Given the description of an element on the screen output the (x, y) to click on. 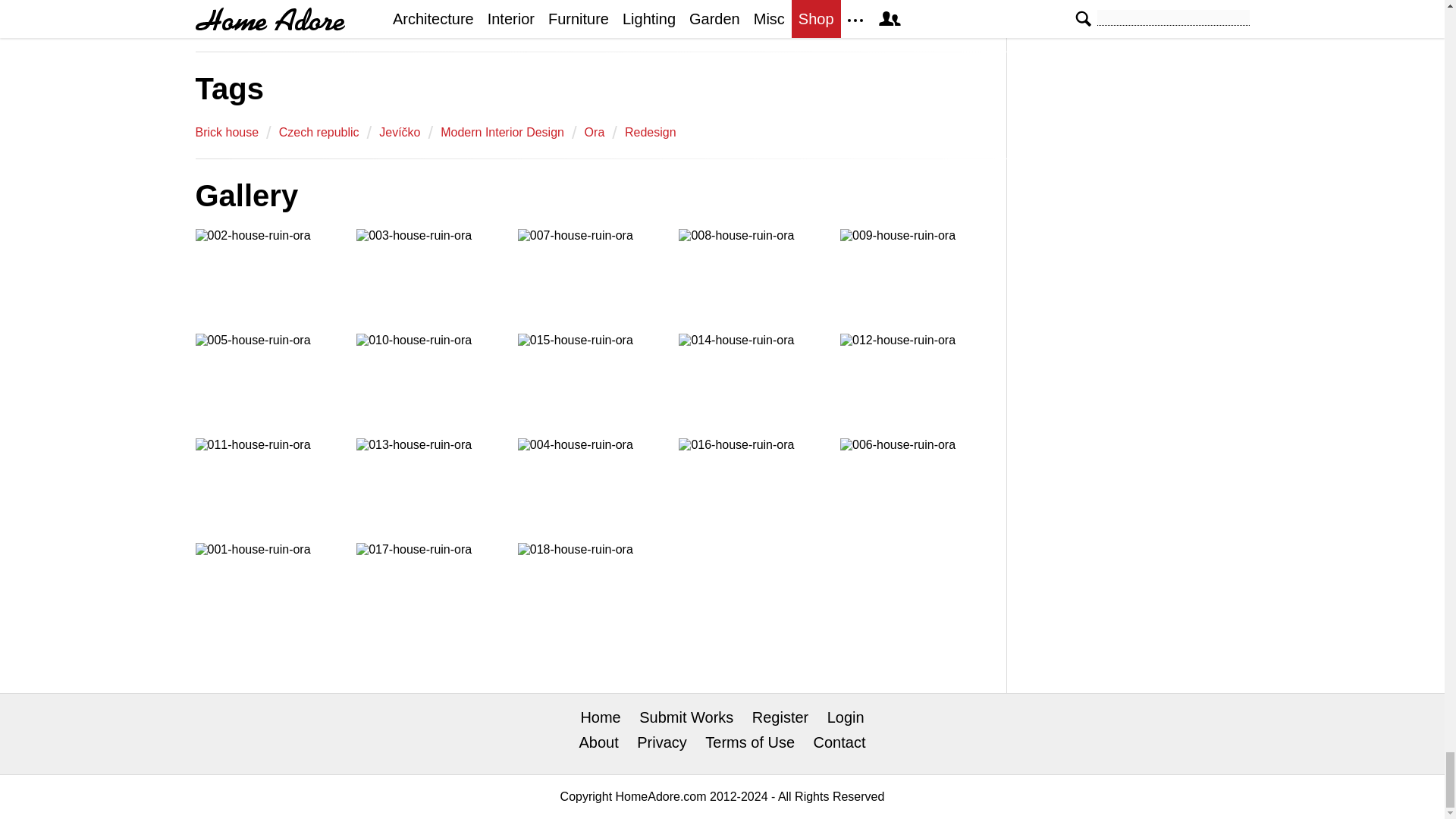
brick house (227, 132)
redesign (650, 132)
Modern Interior Design (502, 132)
Ora (595, 132)
Czech republic (319, 132)
